Given the description of an element on the screen output the (x, y) to click on. 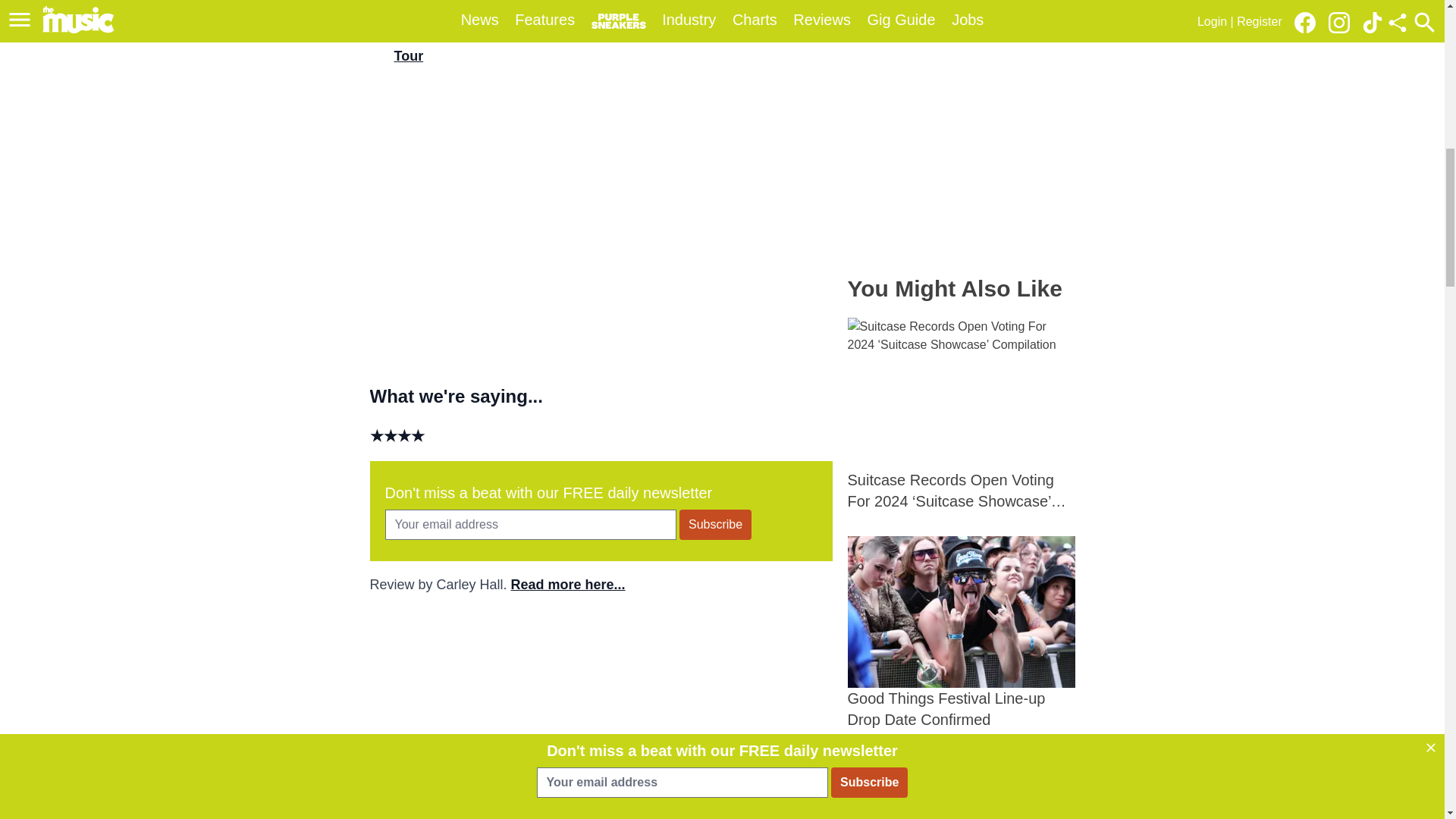
Good Things Festival Line-up Drop Date Confirmed (961, 633)
Read more here... (568, 584)
Subscribe (715, 524)
AURORA Announces 2025 Australian Tour (961, 786)
